Given the description of an element on the screen output the (x, y) to click on. 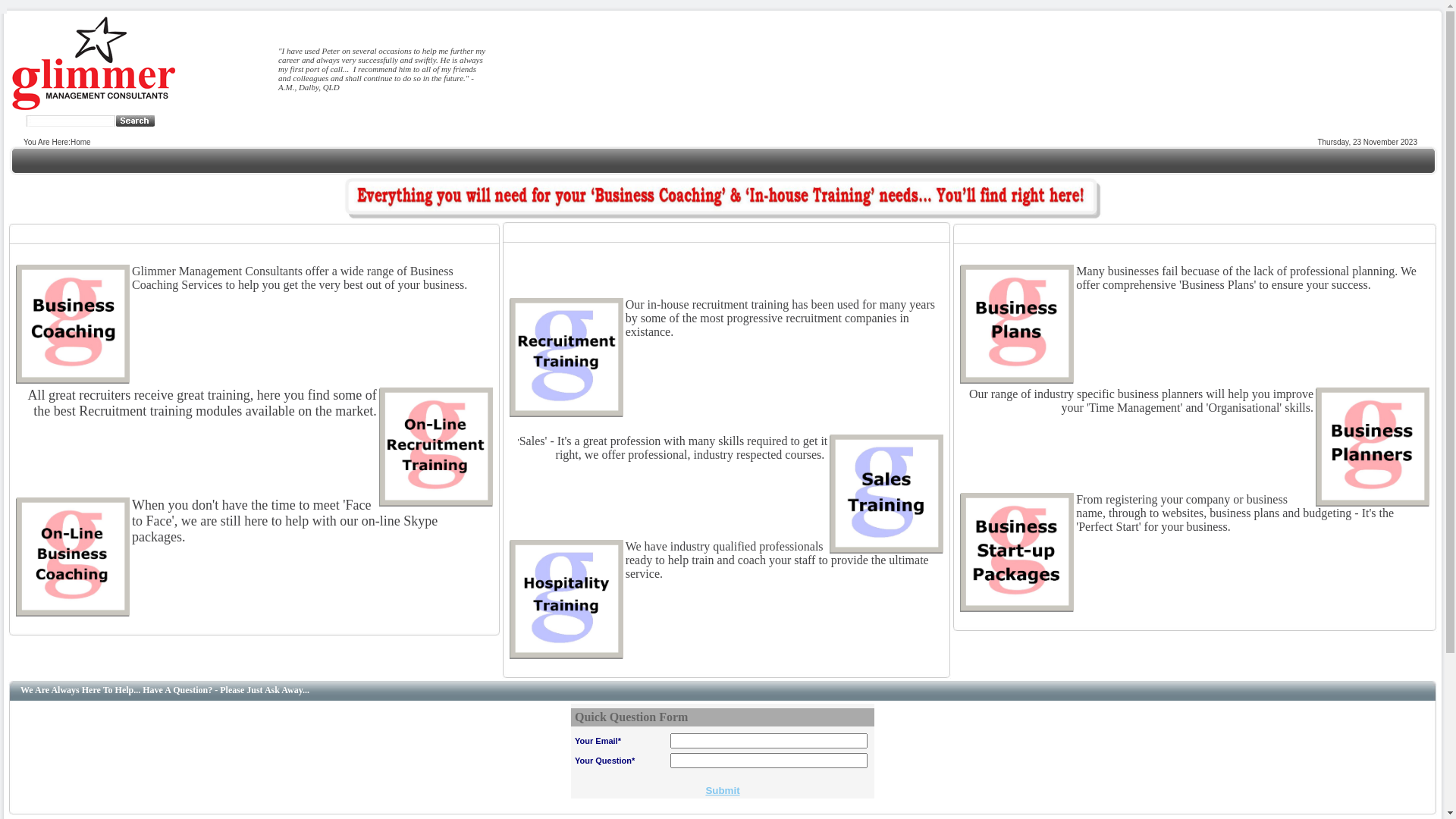
Glimmer Management Consultants Element type: hover (94, 110)
  Element type: text (122, 121)
Submit Element type: text (722, 790)
Home Element type: text (80, 142)
